Given the description of an element on the screen output the (x, y) to click on. 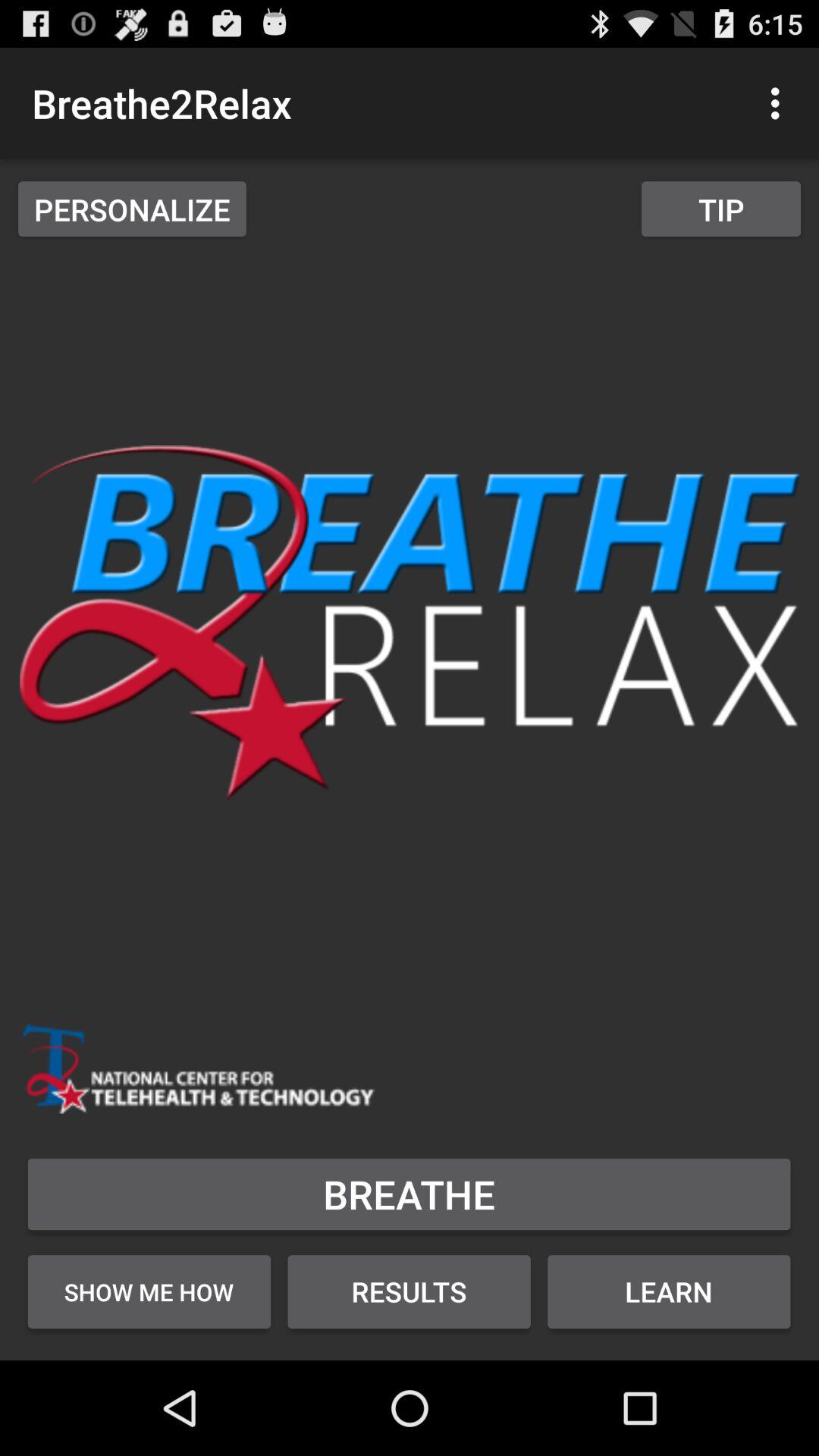
click item next to the results icon (668, 1291)
